Given the description of an element on the screen output the (x, y) to click on. 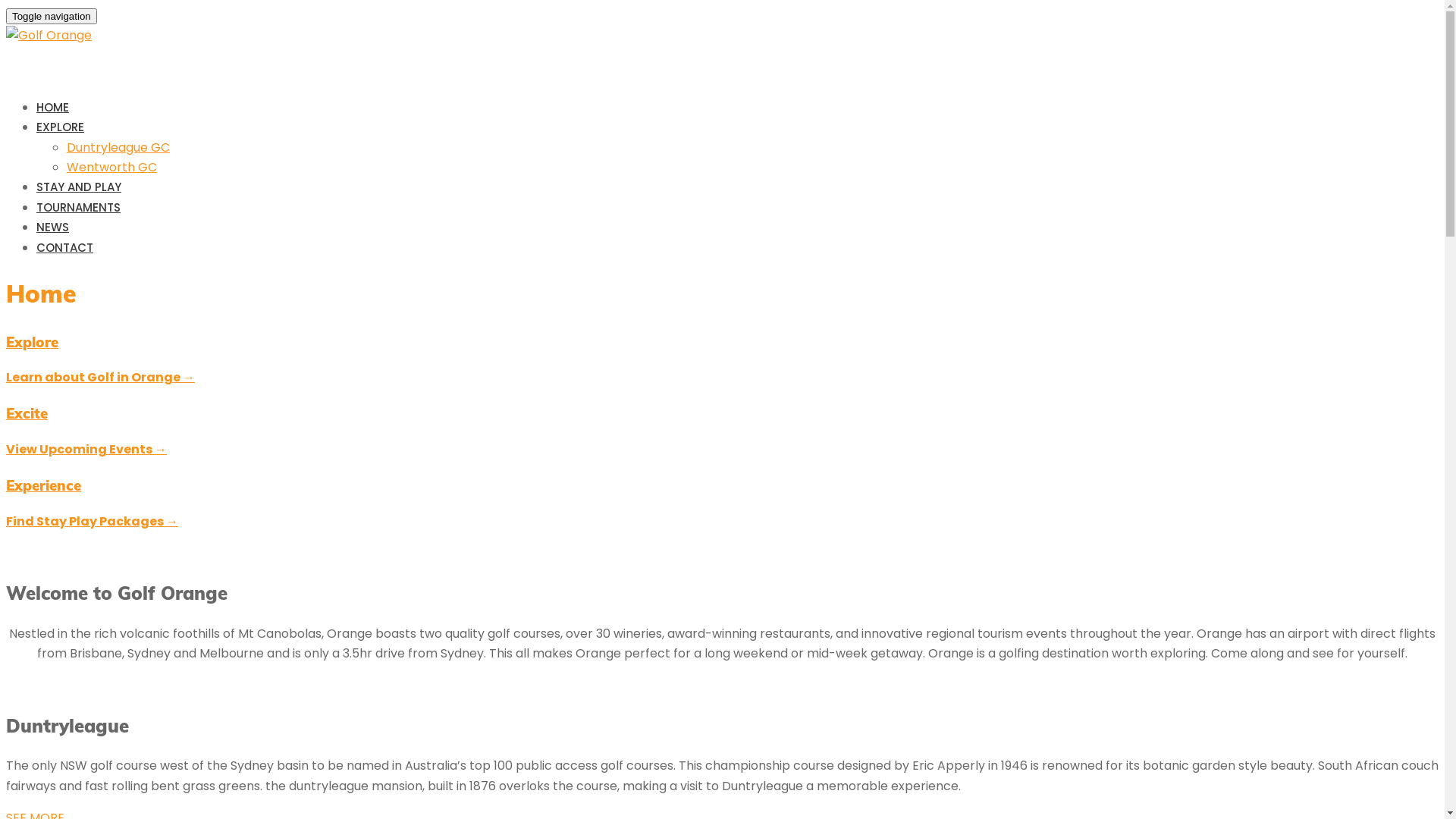
EXPLORE Element type: text (60, 126)
Duntryleague GC Element type: text (117, 147)
Excite Element type: text (26, 413)
Toggle navigation Element type: text (51, 16)
NEWS Element type: text (52, 227)
TOURNAMENTS Element type: text (78, 207)
STAY AND PLAY Element type: text (78, 186)
CONTACT Element type: text (64, 247)
Explore Element type: text (32, 341)
Wentworth GC Element type: text (111, 166)
HOME Element type: text (52, 107)
Experience Element type: text (43, 485)
